Given the description of an element on the screen output the (x, y) to click on. 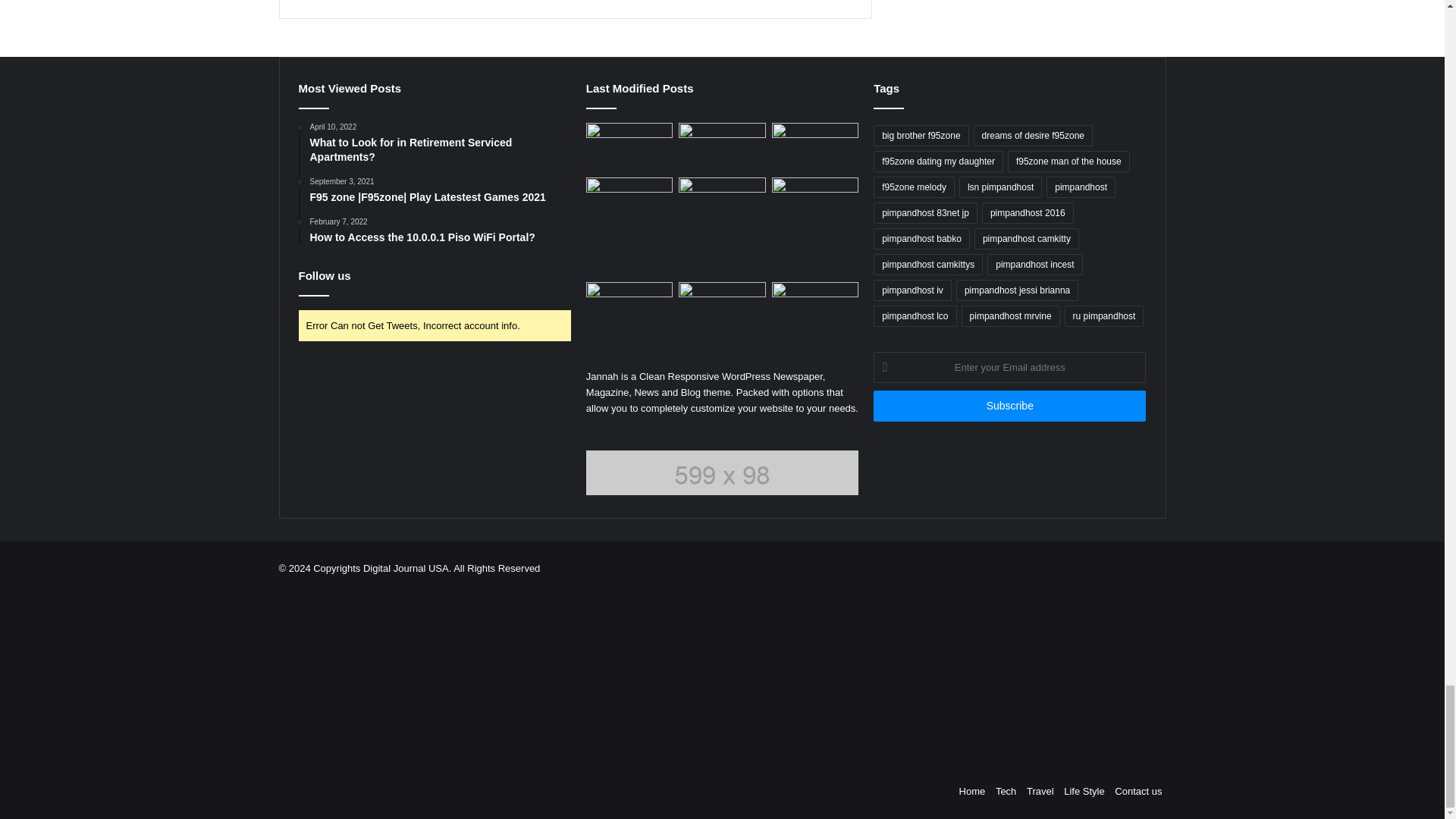
Subscribe (1009, 405)
